Given the description of an element on the screen output the (x, y) to click on. 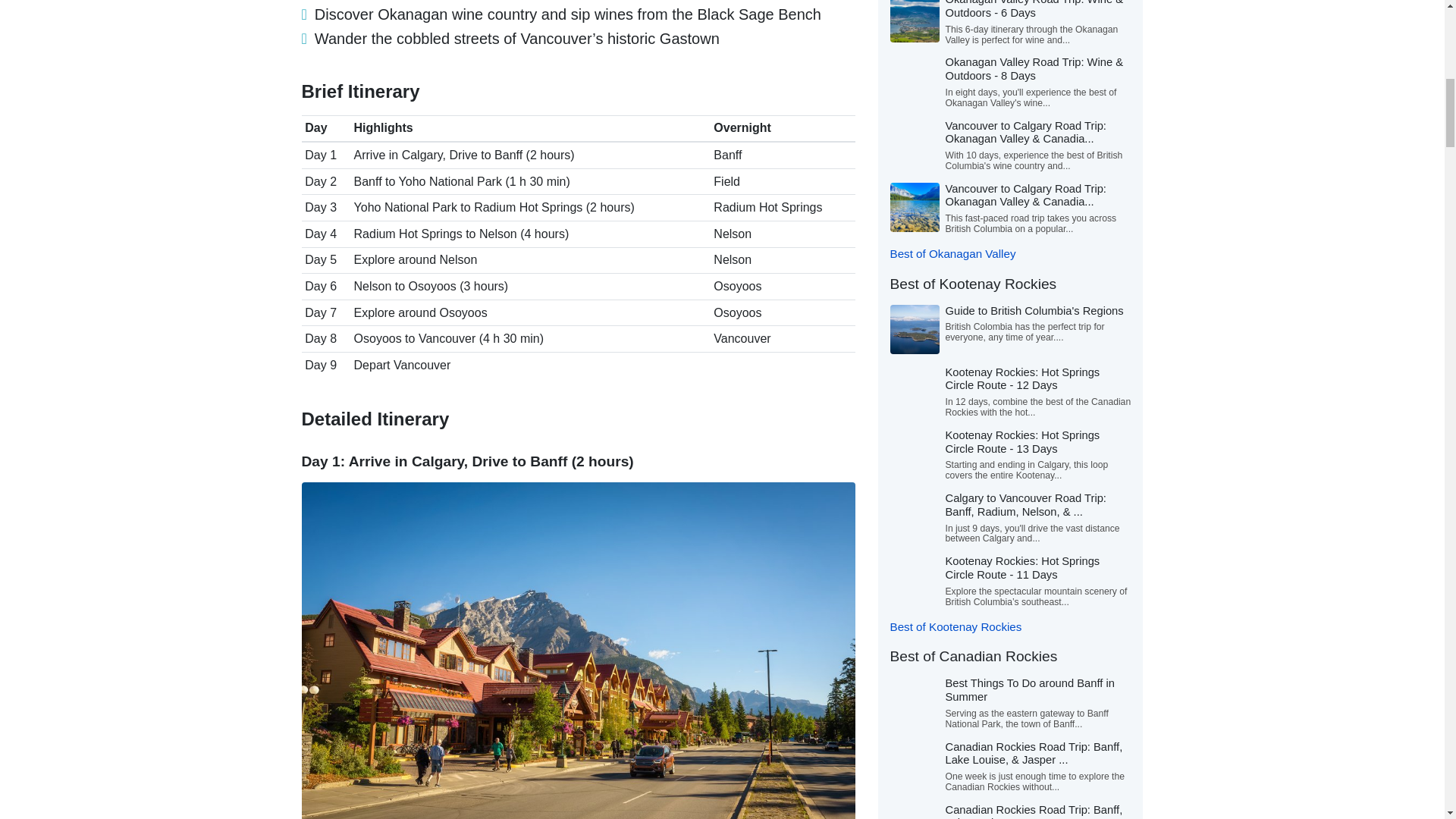
Kootenay Rockies: Hot Springs Circle Route - 11 Days (1021, 567)
Best Things To Do around Banff in Summer (1028, 689)
Guide to British Columbia's Regions (1033, 310)
Kootenay Rockies: Hot Springs Circle Route - 13 Days (1021, 442)
Kootenay Rockies: Hot Springs Circle Route - 12 Days (1021, 379)
